Given the description of an element on the screen output the (x, y) to click on. 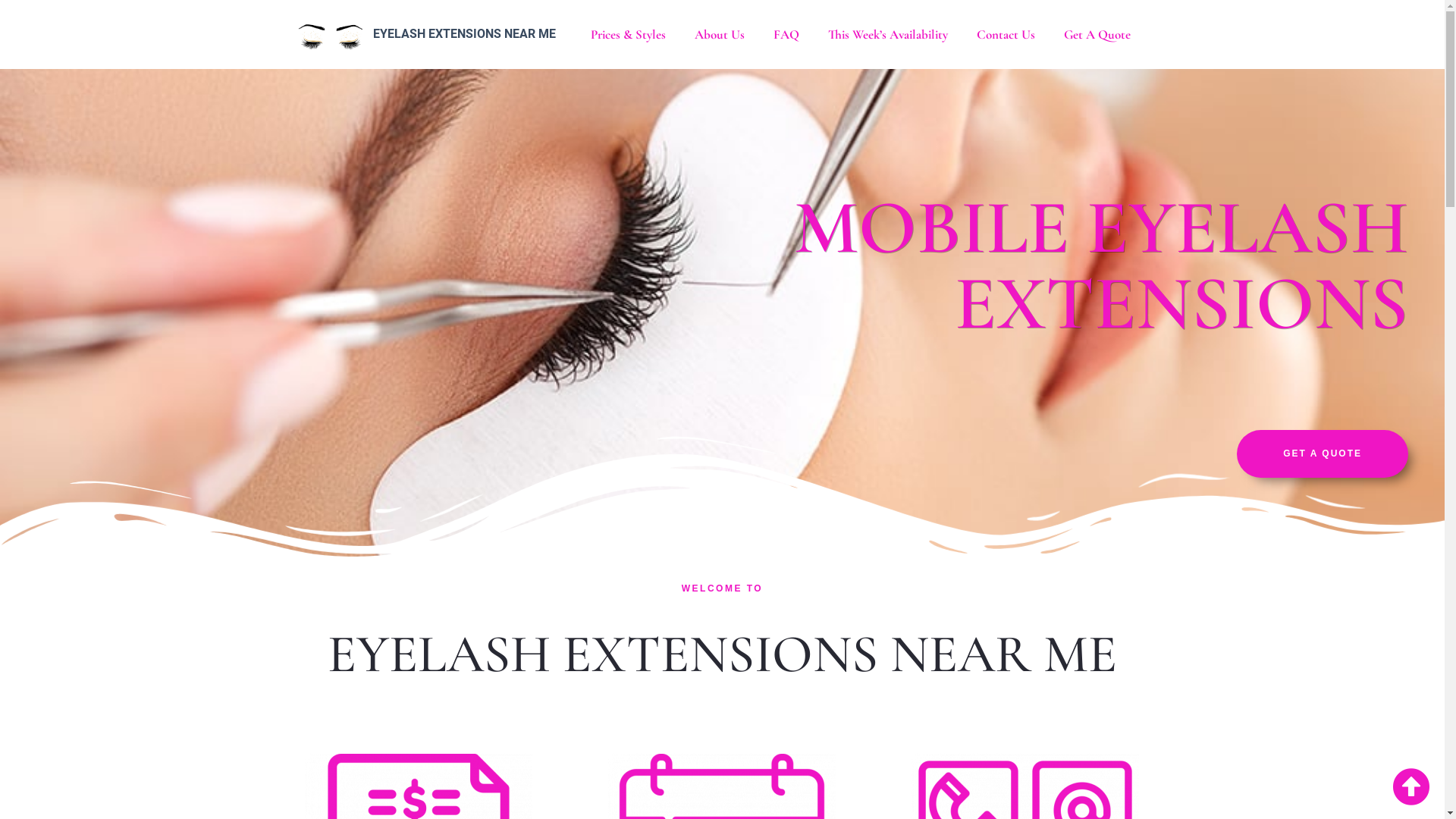
Get A Quote Element type: text (1097, 34)
Contact Us Element type: text (1005, 34)
Prices & Styles Element type: text (628, 34)
About Us Element type: text (719, 34)
GET A QUOTE Element type: text (1322, 453)
EYELASH EXTENSIONS NEAR ME Element type: text (464, 33)
FAQ Element type: text (786, 34)
